Given the description of an element on the screen output the (x, y) to click on. 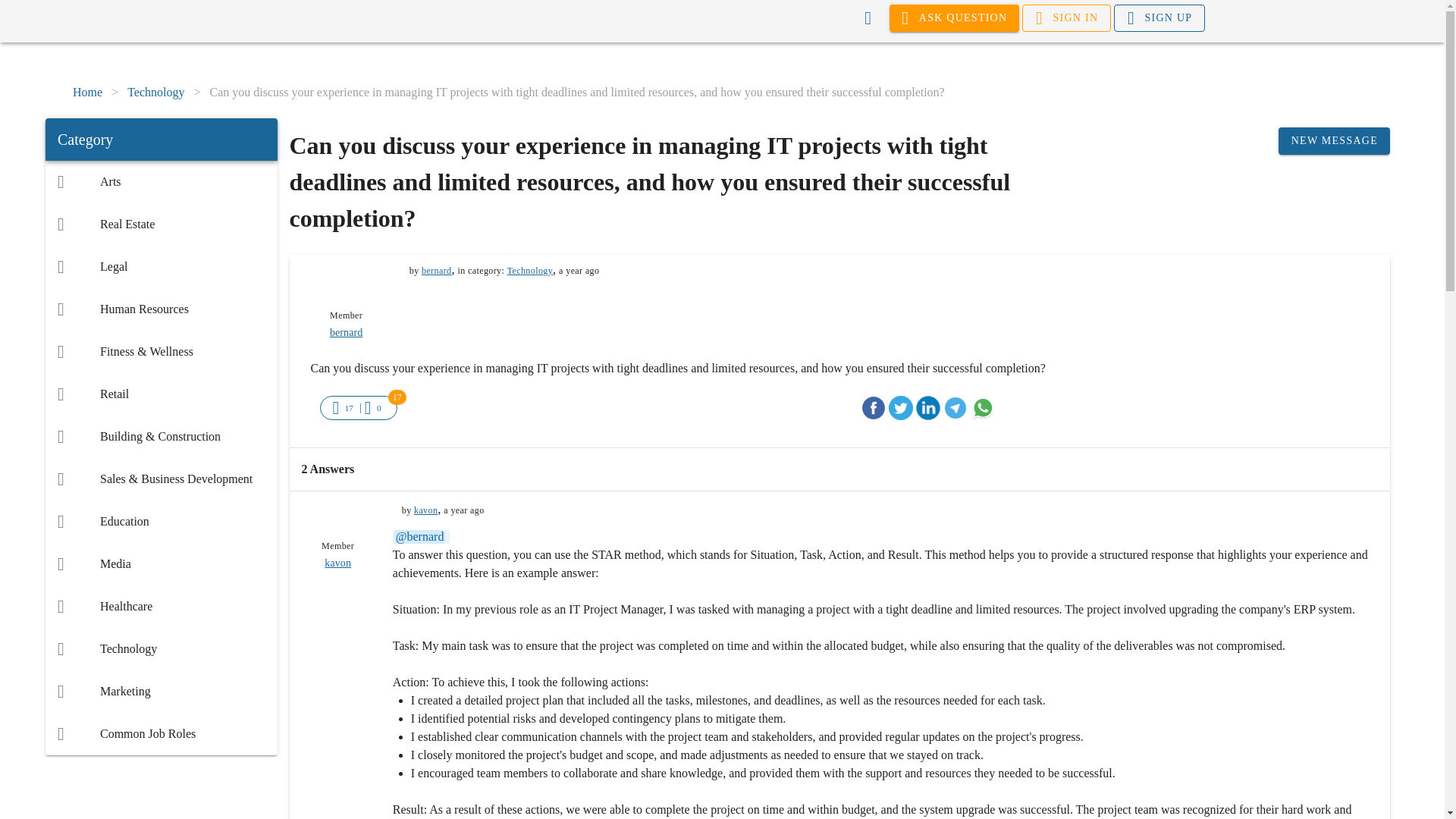
SIGN UP (1159, 17)
LinkedIn (927, 407)
Home (86, 92)
ASK QUESTION (954, 17)
Telegram (955, 407)
Education (161, 521)
Real Estate (161, 224)
Human Resources (161, 309)
Whatsapp (982, 407)
Healthcare (161, 606)
Technology (156, 92)
Facebook (873, 407)
Arts (161, 181)
Retail (161, 394)
